Given the description of an element on the screen output the (x, y) to click on. 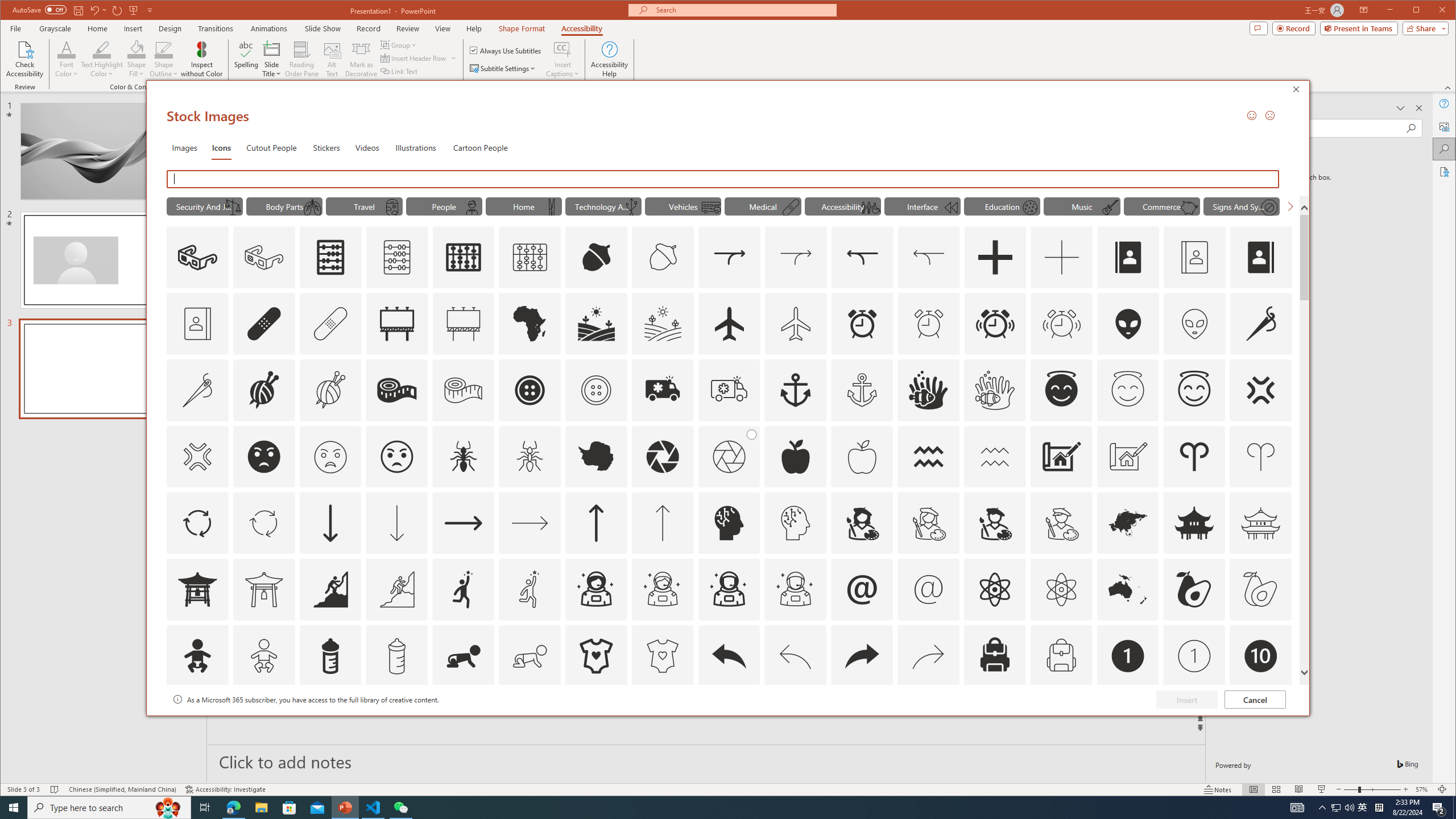
AutomationID: Icons_PiggyBank_M (1189, 207)
AutomationID: Icons_AddressBook_LTR_M (1194, 256)
Send a Frown (1269, 115)
Slide Title (271, 48)
Insert Header Row (413, 57)
AutomationID: Icons_Ant_M (529, 456)
Accessibility Help (608, 59)
Shape Outline (163, 59)
Spelling... (246, 59)
AutomationID: Icons_AnemoneAndClownfish (928, 389)
AutomationID: Icons_ElectricGuitar_M (1110, 207)
